Given the description of an element on the screen output the (x, y) to click on. 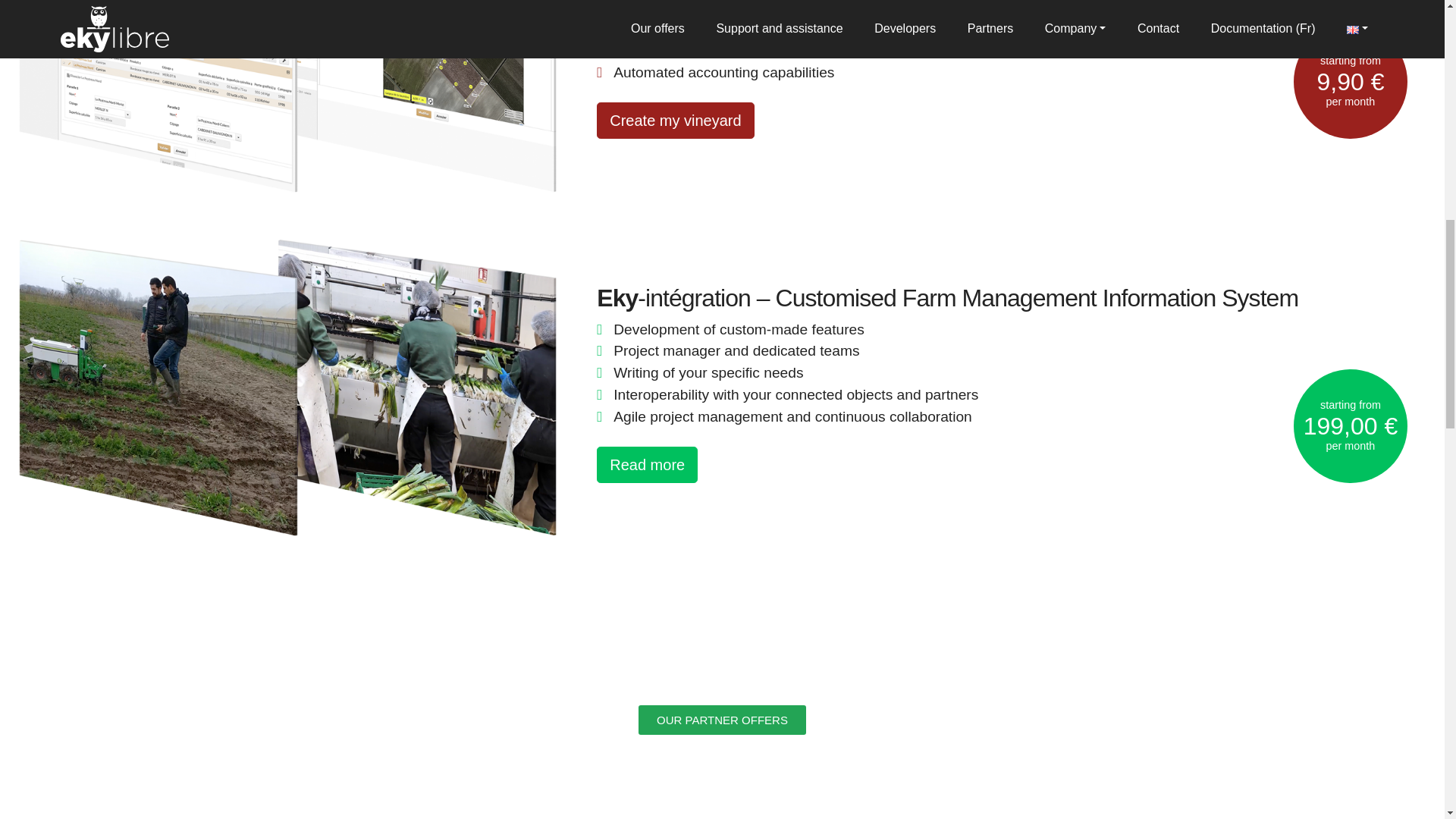
Read more (646, 464)
Create my vineyard (675, 120)
OUR PARTNER OFFERS (722, 719)
